Given the description of an element on the screen output the (x, y) to click on. 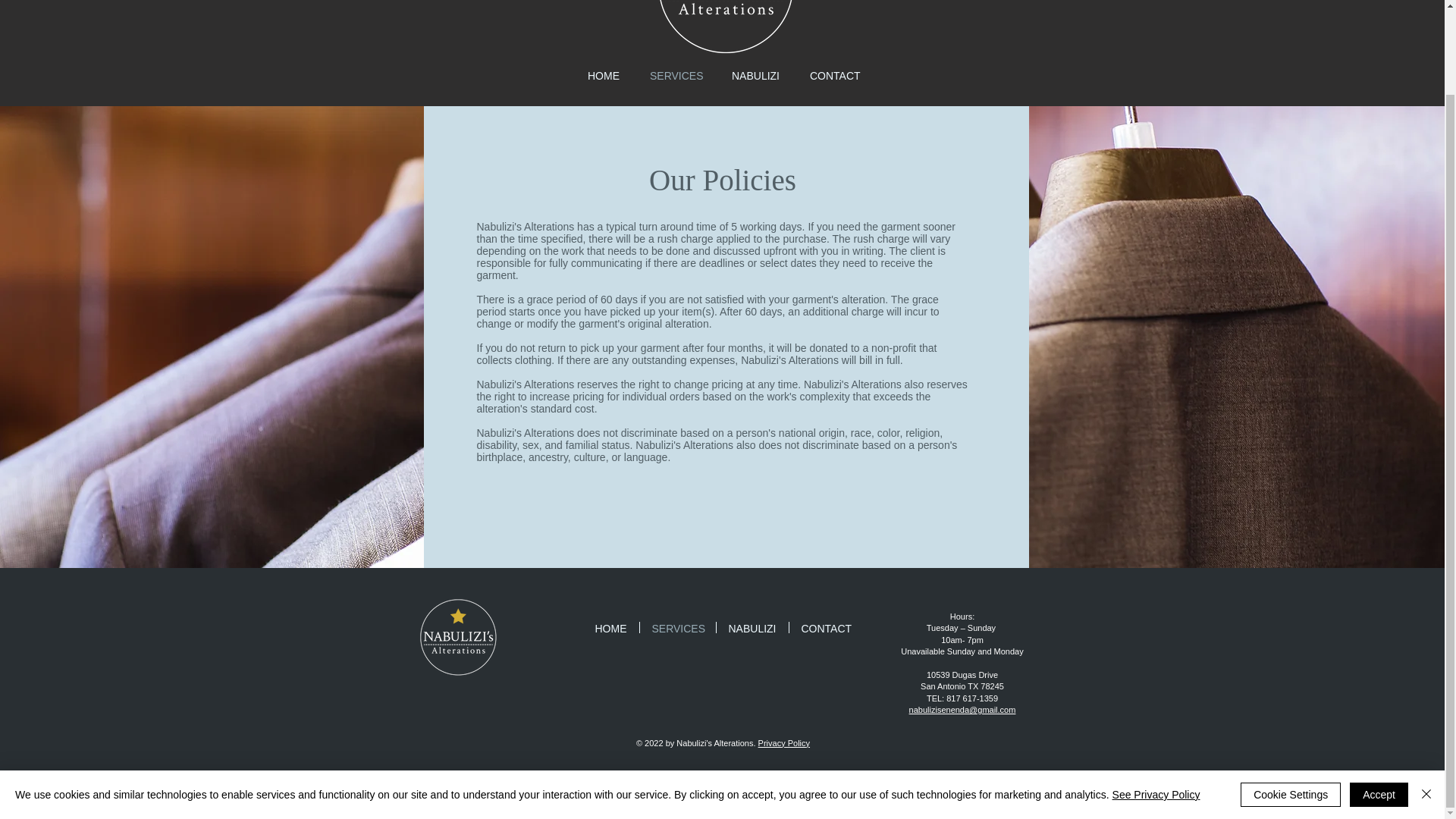
SERVICES (678, 627)
NABULIZI (755, 74)
CONTACT (833, 74)
Privacy Policy (783, 742)
HOME (603, 74)
CONTACT (825, 627)
Accept (1378, 698)
HOME (610, 627)
Cookie Settings (1290, 698)
SERVICES (675, 74)
NABULIZI (751, 627)
See Privacy Policy (1155, 698)
